Given the description of an element on the screen output the (x, y) to click on. 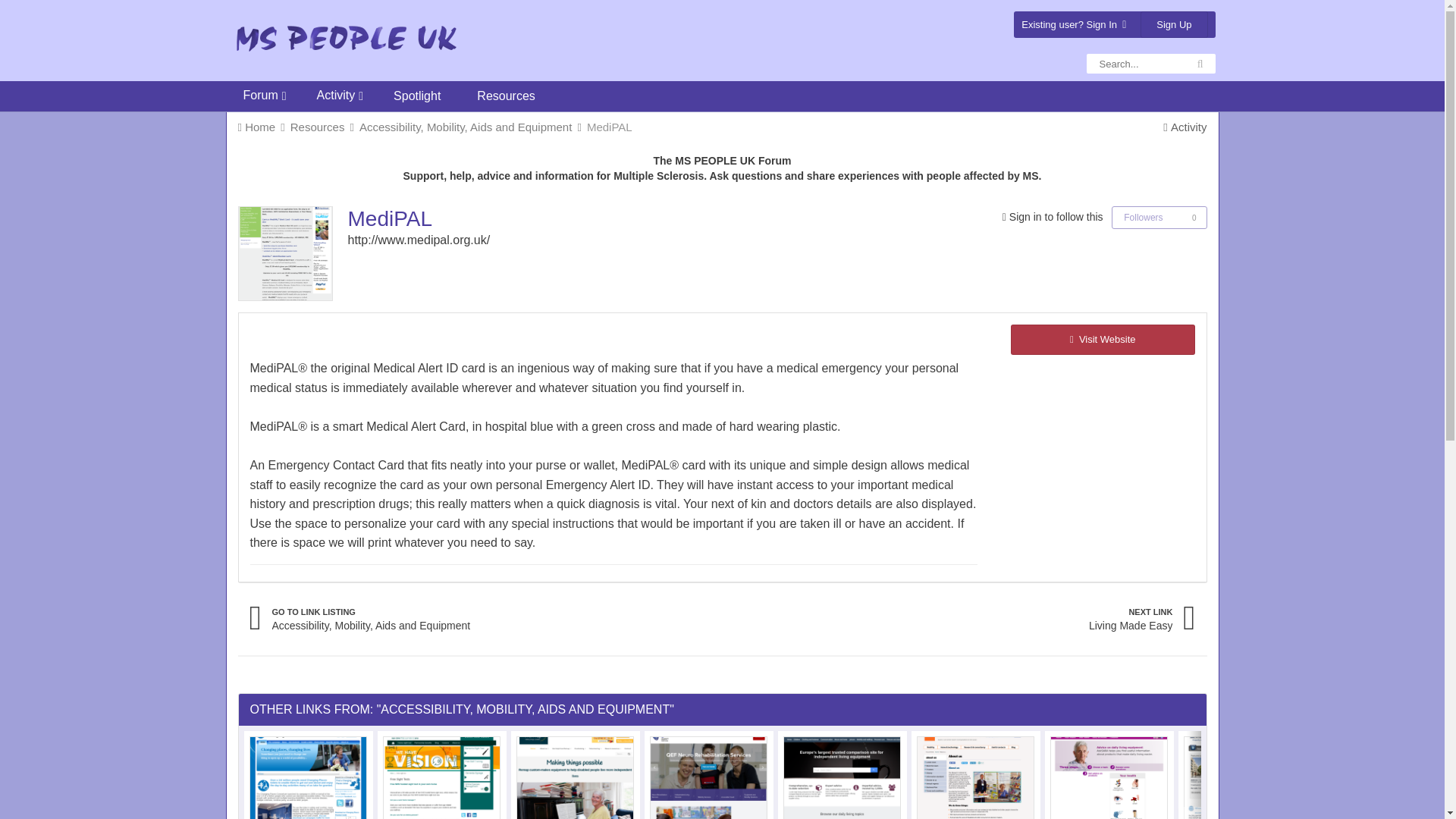
Visit Website (1102, 339)
More information about "MediPAL" (285, 253)
Go to Accessibility, Mobility, Aids and Equipment (359, 618)
Forum (260, 96)
Sign Up (1173, 24)
More information about "Changing Places - Toilets" (307, 777)
Next Link (1142, 618)
Home (262, 126)
Resources (505, 95)
Spotlight (415, 95)
More information about "Remap" (574, 777)
Existing user? Sign In   (1073, 24)
Activity (335, 96)
Go to the sign in page (1056, 216)
